Given the description of an element on the screen output the (x, y) to click on. 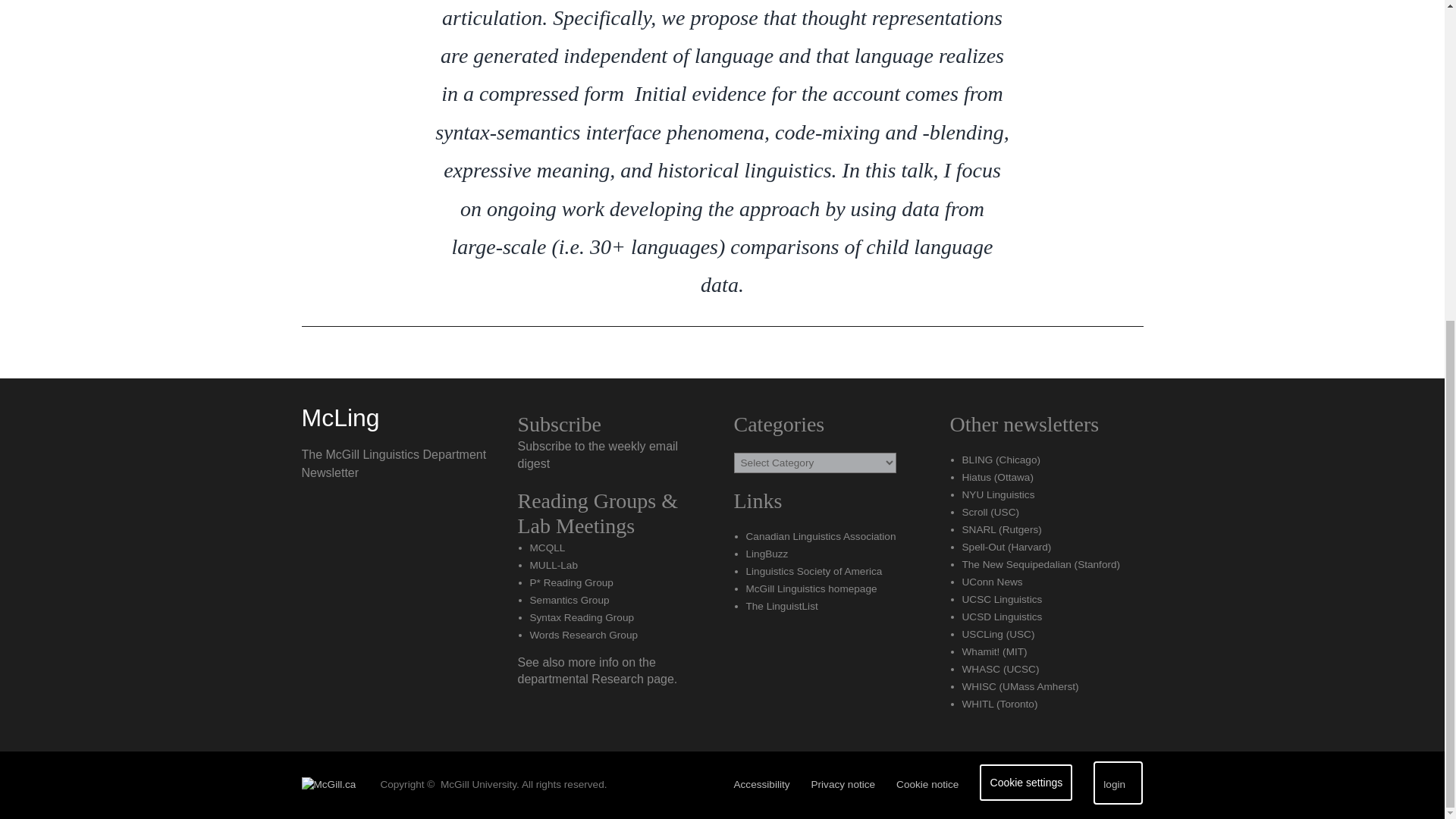
UCSC Linguistics (1001, 599)
MULL-Lab (552, 564)
Canadian Linguistics Association (820, 536)
Subscribe to the weekly email digest (597, 454)
Words Research Group (583, 634)
UCSD Linguistics (1001, 616)
McGill University (334, 785)
McGill Linguistics homepage (811, 588)
Home (340, 417)
The LinguistList (781, 605)
